Given the description of an element on the screen output the (x, y) to click on. 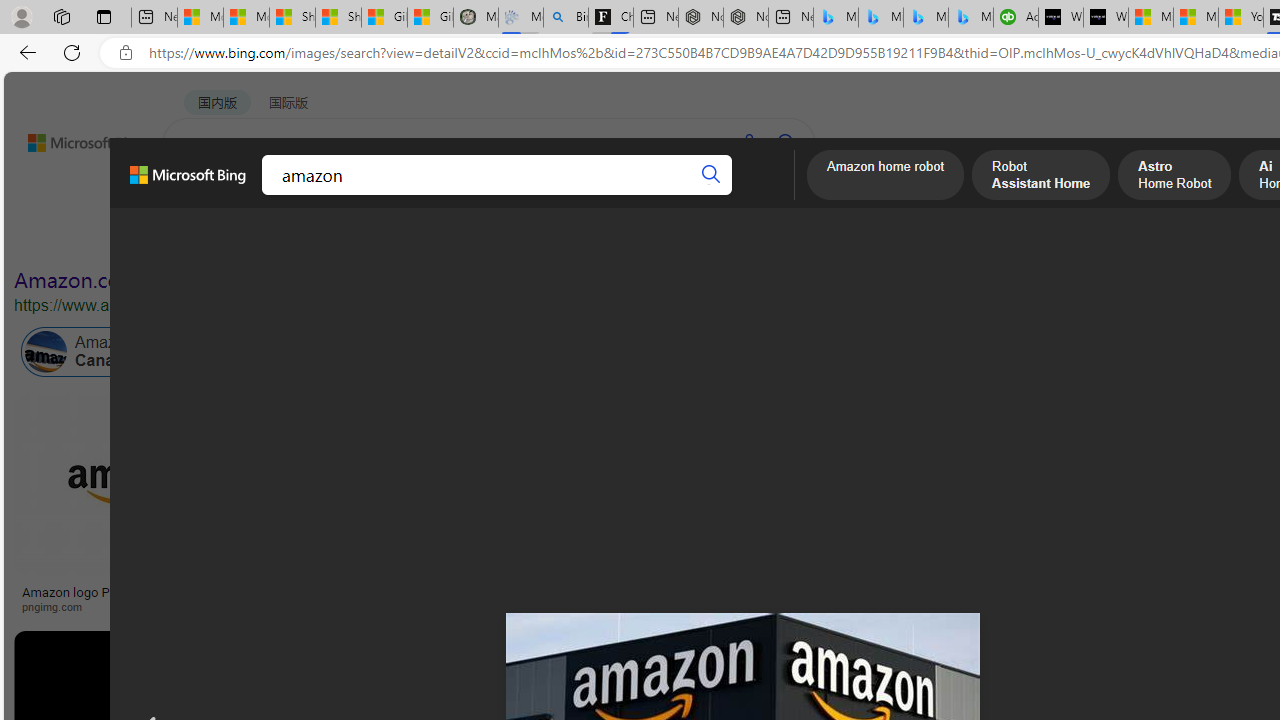
usatoday.com (710, 606)
ACADEMIC (548, 195)
Two Reasons Why Retailers Need to Leverage Amazon (396, 598)
License (665, 237)
